Given the description of an element on the screen output the (x, y) to click on. 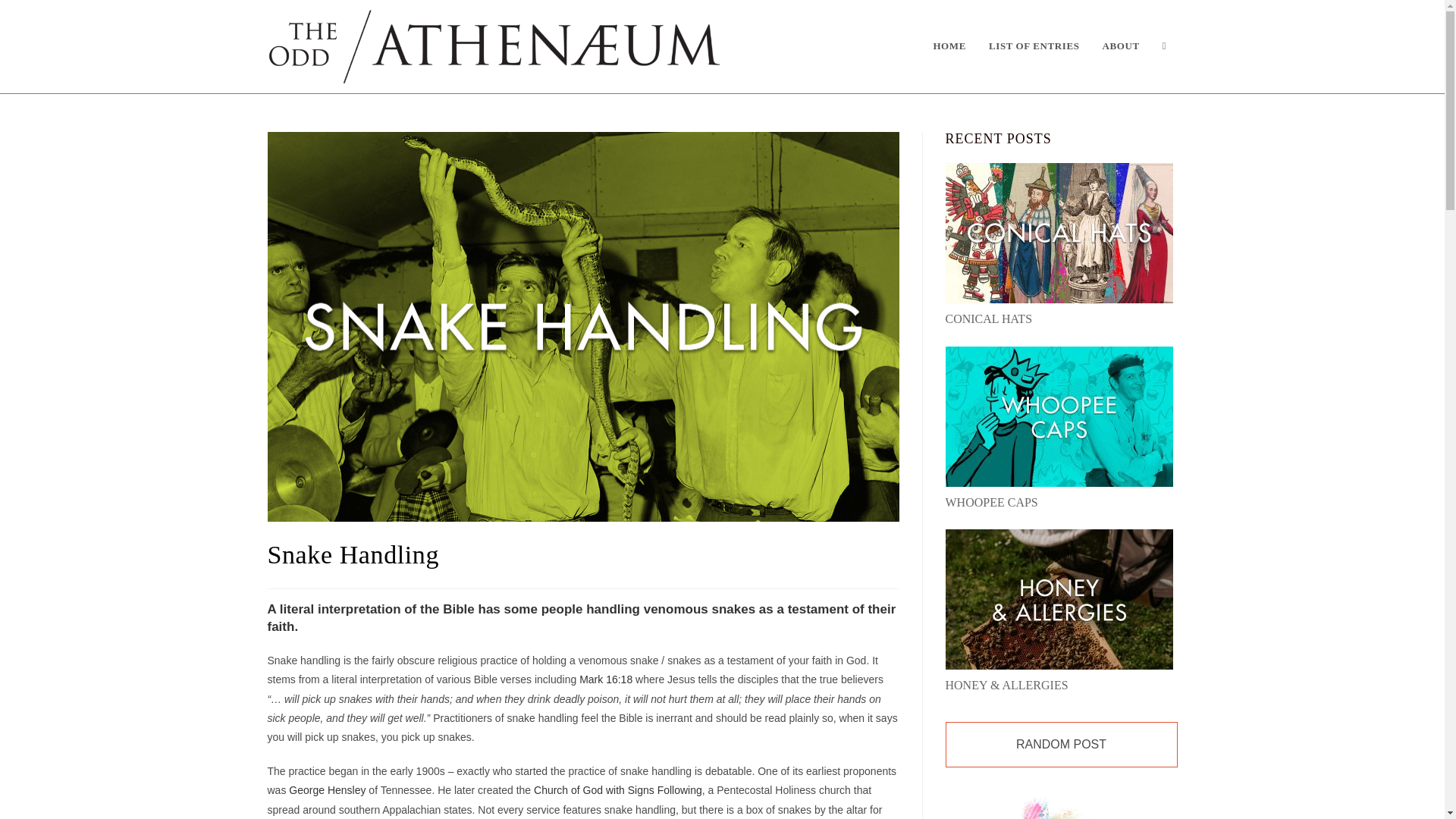
Church of God with Signs Following (617, 789)
ABOUT (1120, 46)
Mark 16:18 (605, 679)
George Hensley (326, 789)
LIST OF ENTRIES (1033, 46)
HOME (948, 46)
